Given the description of an element on the screen output the (x, y) to click on. 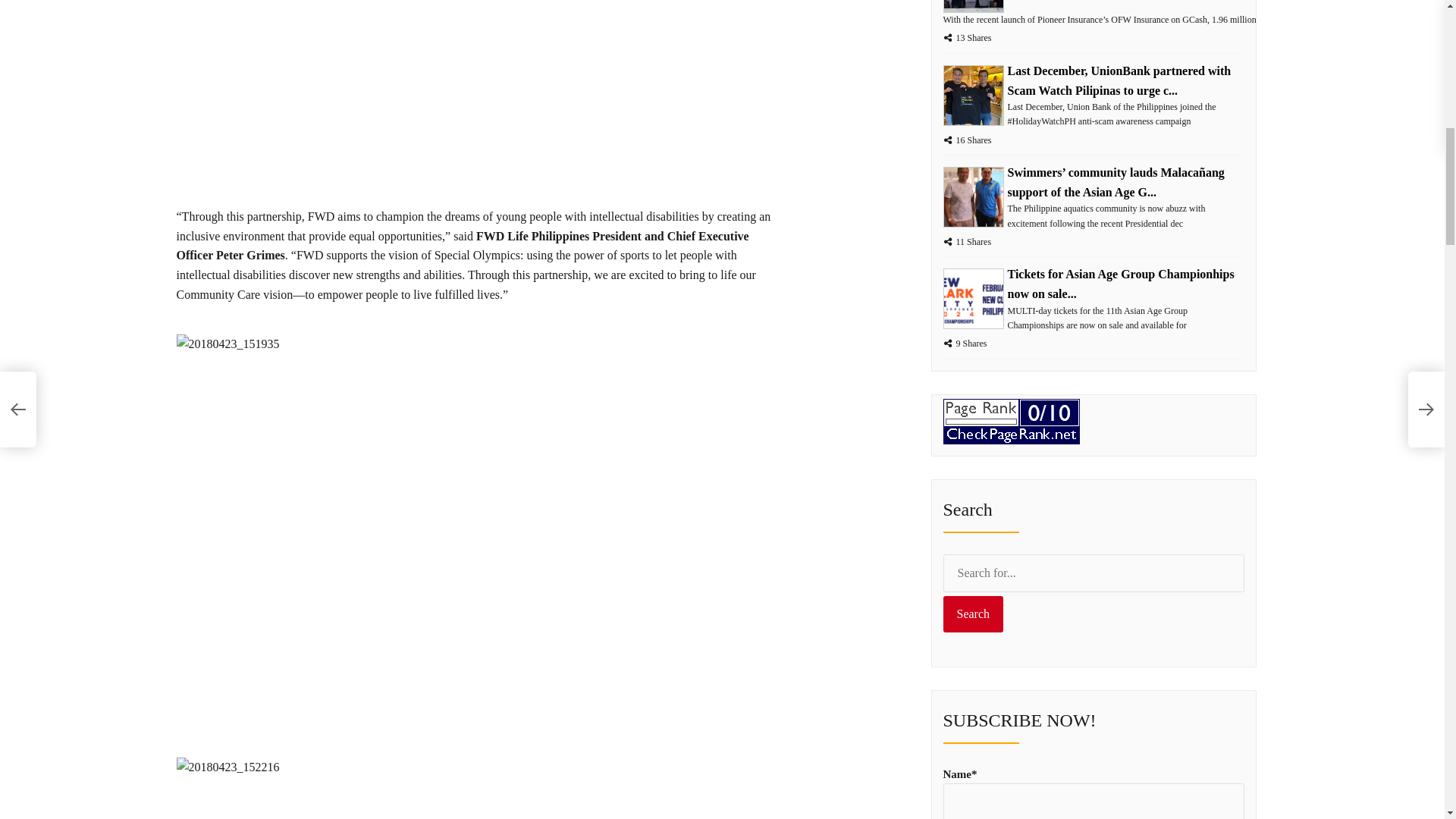
Search (973, 614)
Search for... (1093, 573)
Search (973, 614)
seo for beginners (1011, 408)
